Given the description of an element on the screen output the (x, y) to click on. 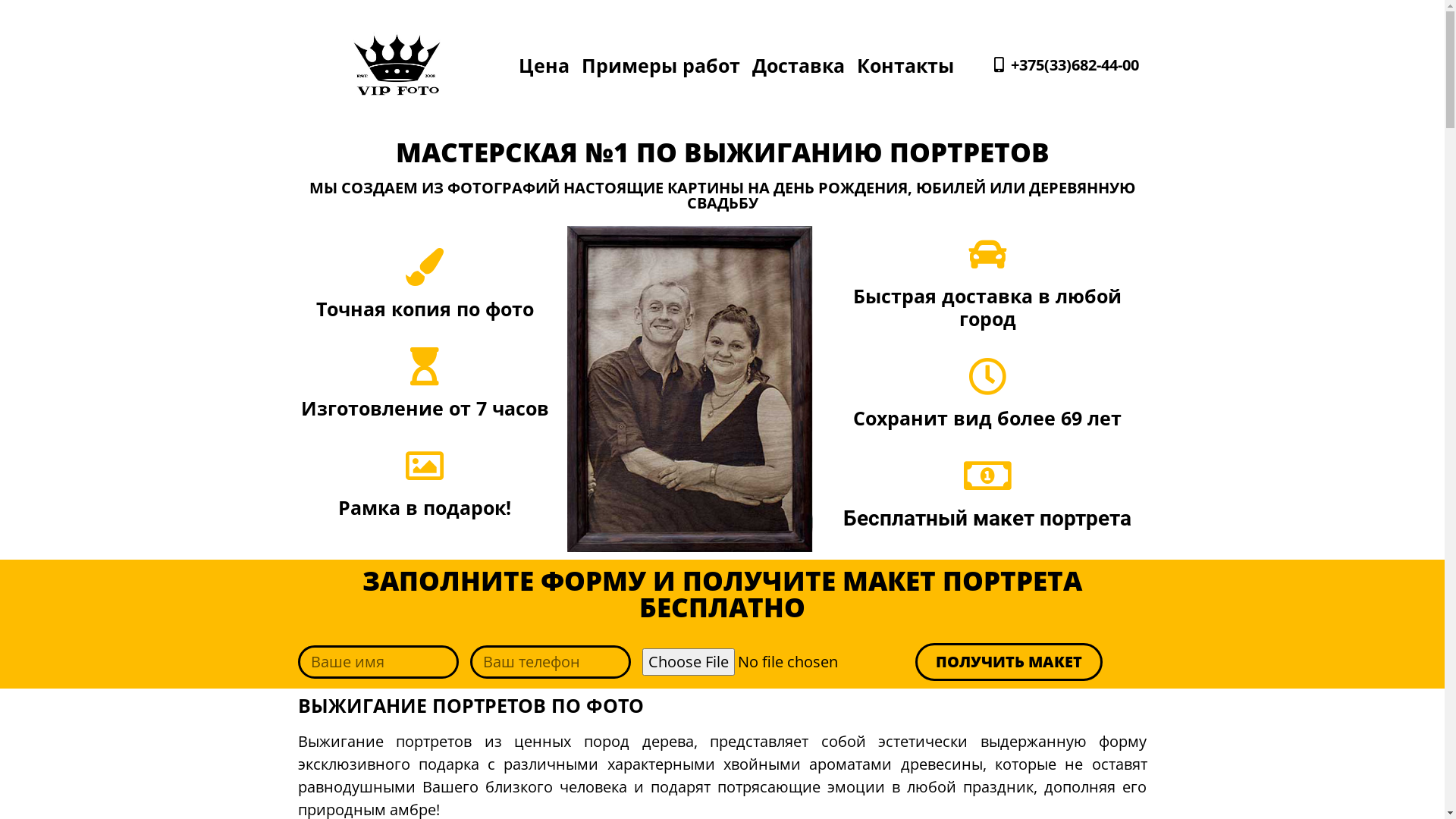
+375(33)682-44-00 Element type: text (1065, 64)
